Given the description of an element on the screen output the (x, y) to click on. 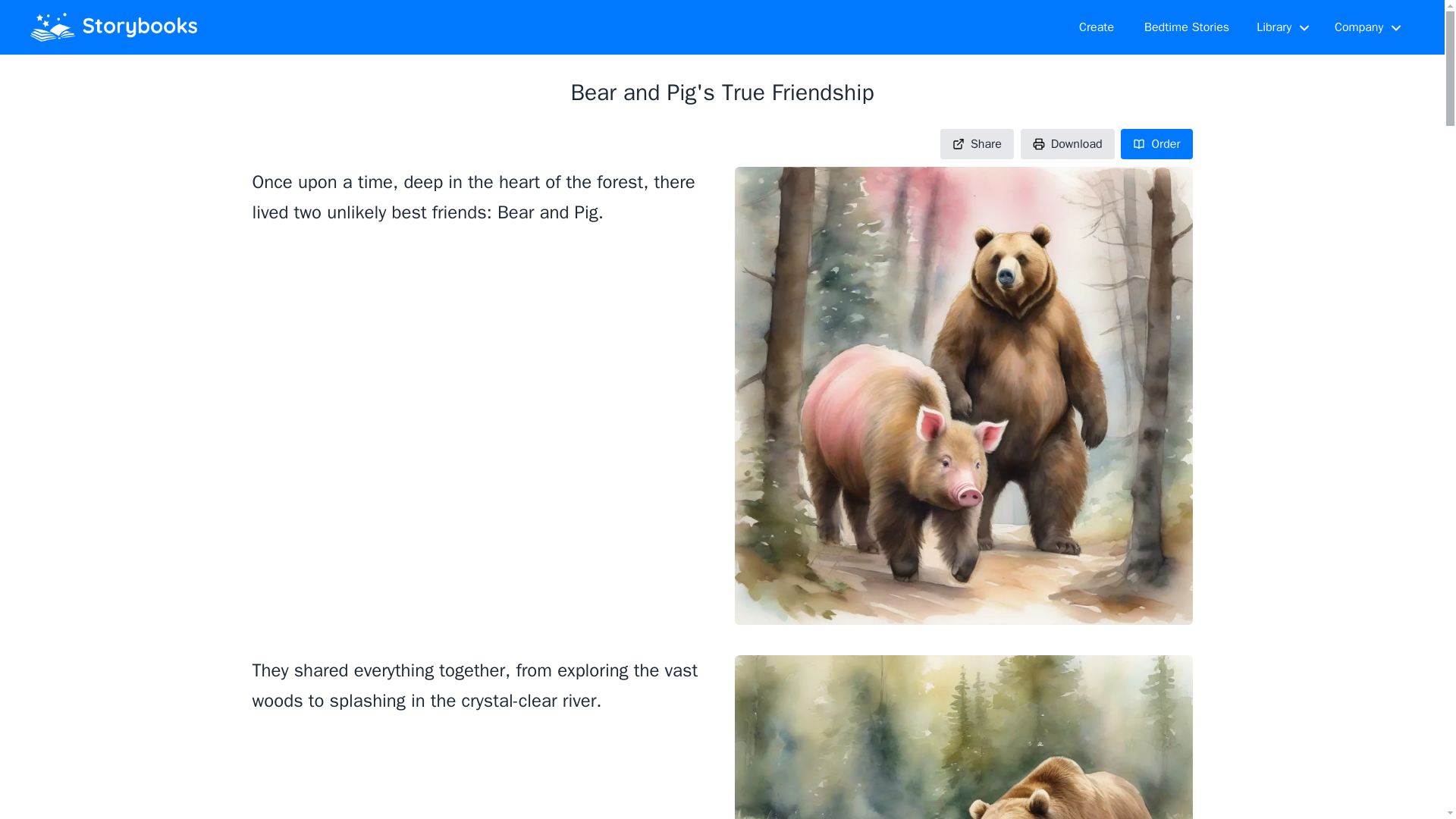
Order (1156, 143)
Bedtime Stories (1187, 27)
Download (1067, 143)
Share (976, 143)
Create (1096, 27)
Company (1367, 27)
Library (1283, 27)
